Given the description of an element on the screen output the (x, y) to click on. 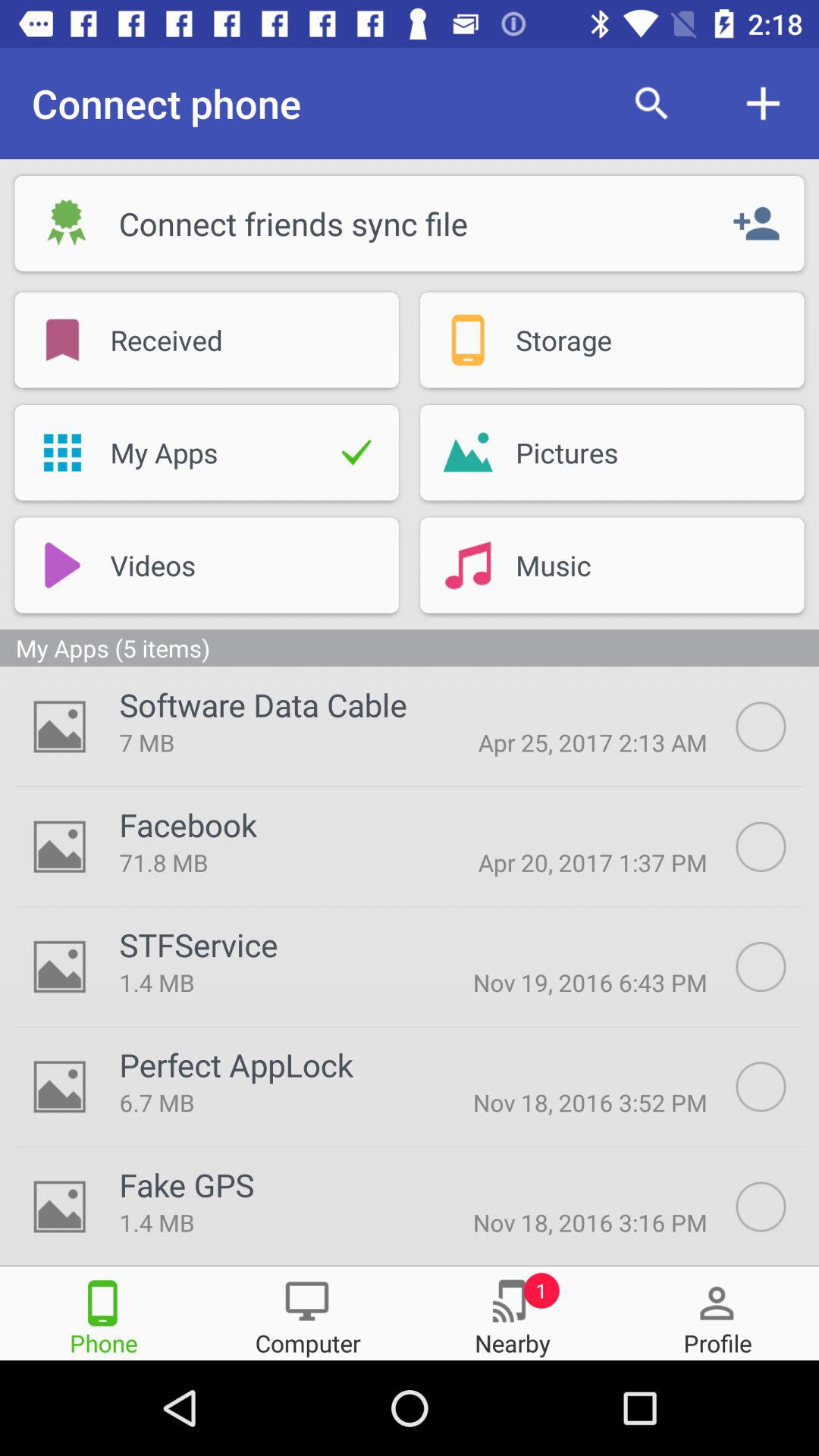
select this option (777, 1086)
